Given the description of an element on the screen output the (x, y) to click on. 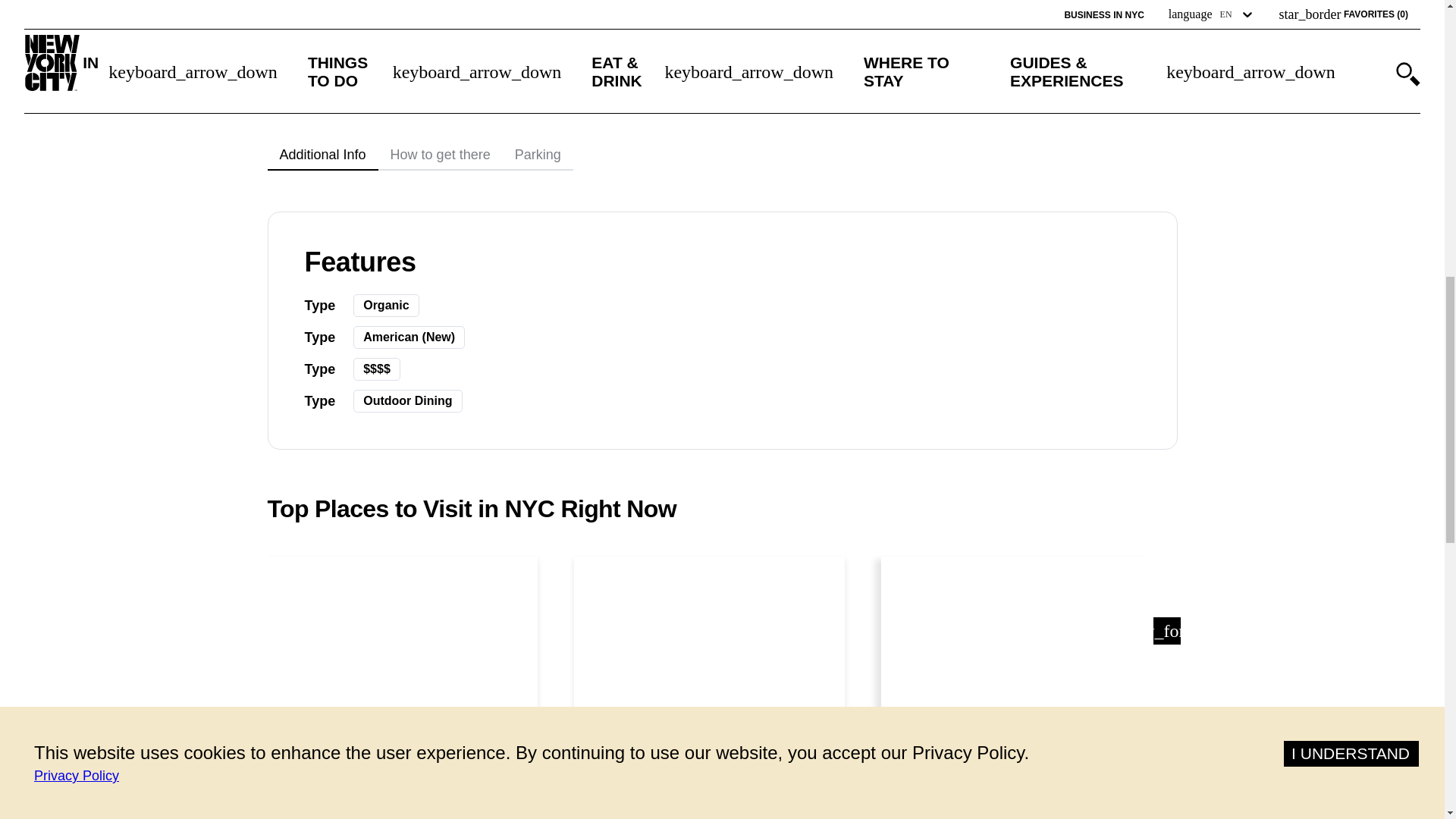
Facebook (777, 21)
Queens Night Market (709, 809)
How to get there (440, 155)
Additional Info (321, 155)
Coney Island (402, 809)
Parking (537, 155)
